Given the description of an element on the screen output the (x, y) to click on. 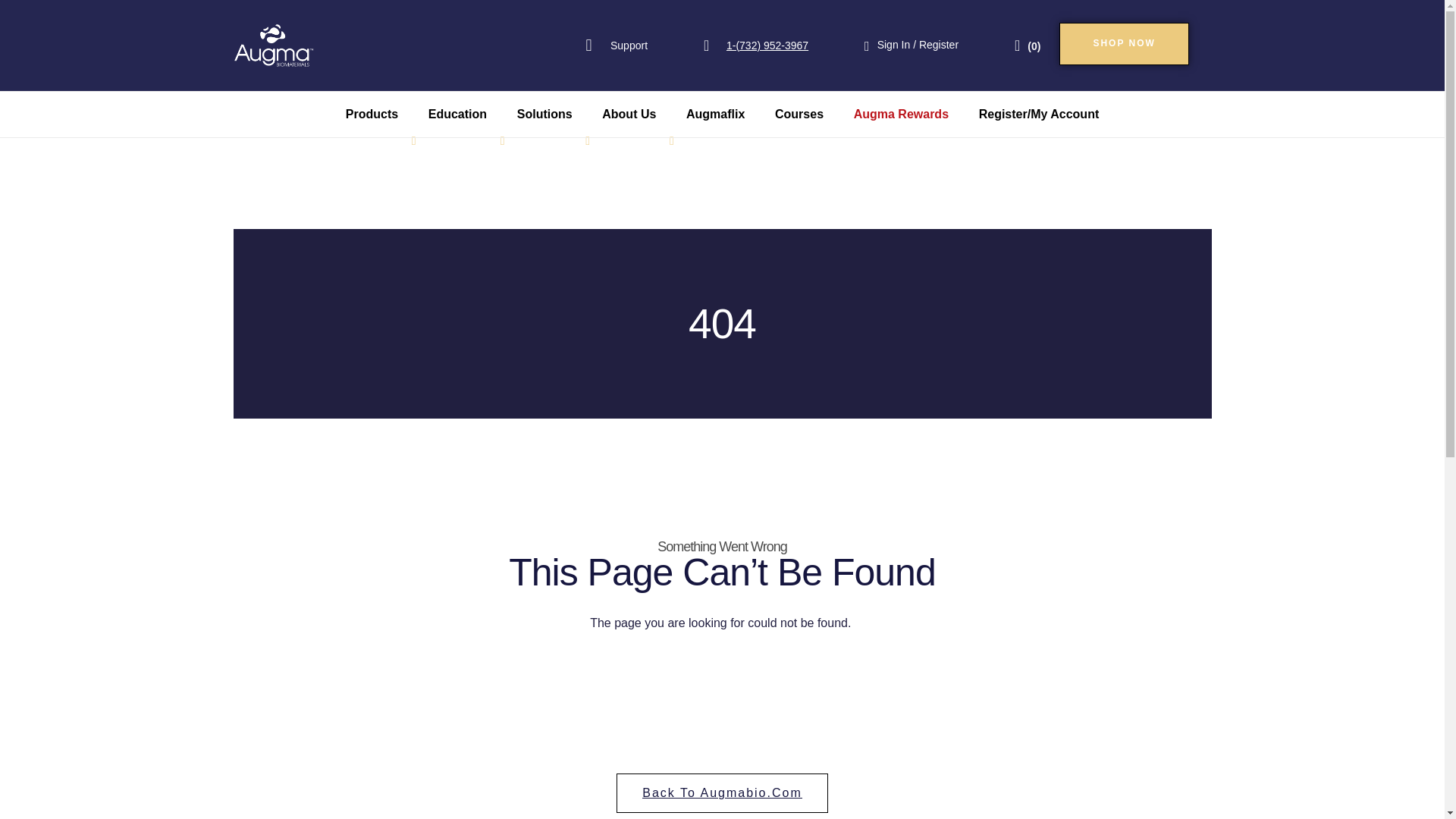
Products (371, 114)
SHOP NOW (1123, 43)
Education (457, 114)
View your shopping cart (1027, 45)
Support (616, 45)
